Given the description of an element on the screen output the (x, y) to click on. 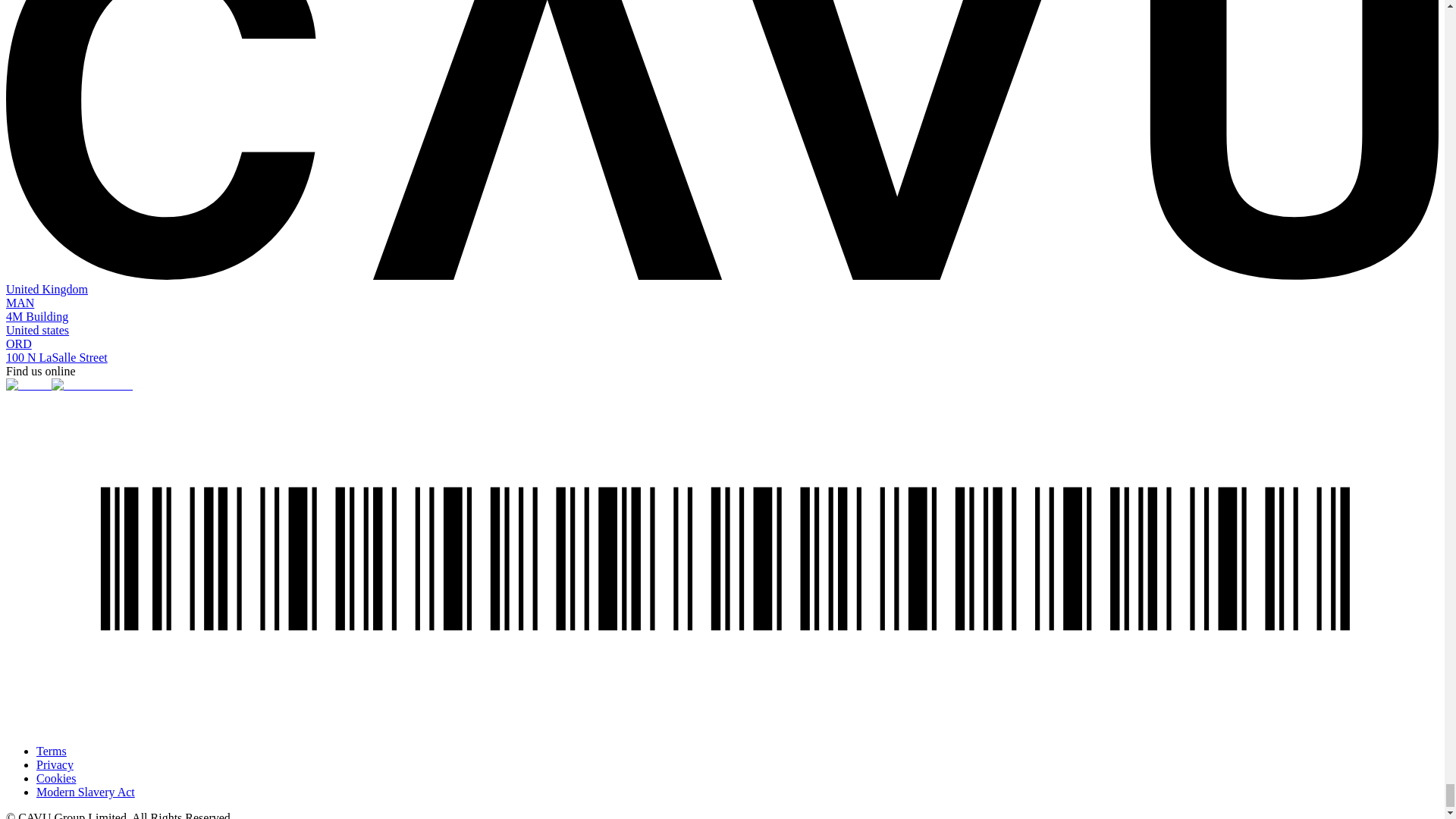
Terms (51, 750)
